Given the description of an element on the screen output the (x, y) to click on. 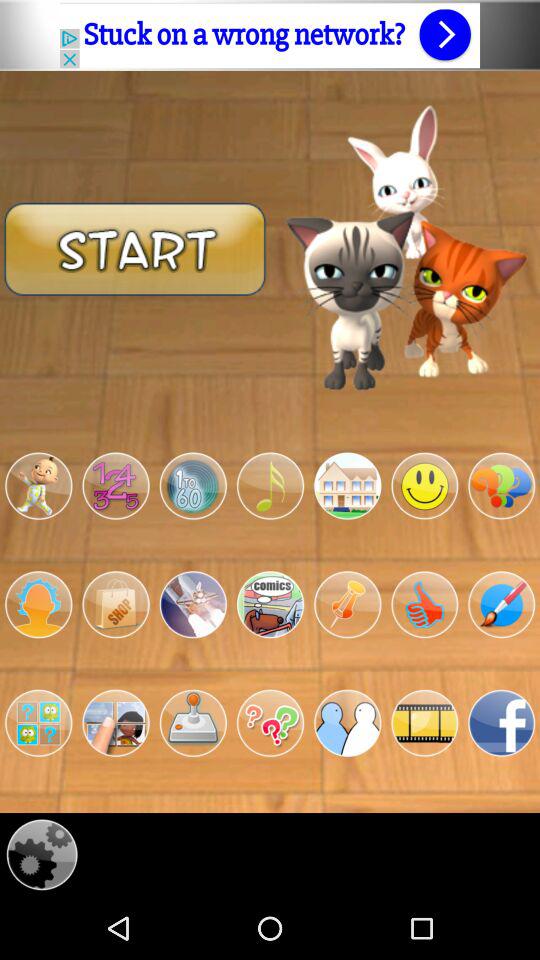
tap icon option (270, 604)
